Given the description of an element on the screen output the (x, y) to click on. 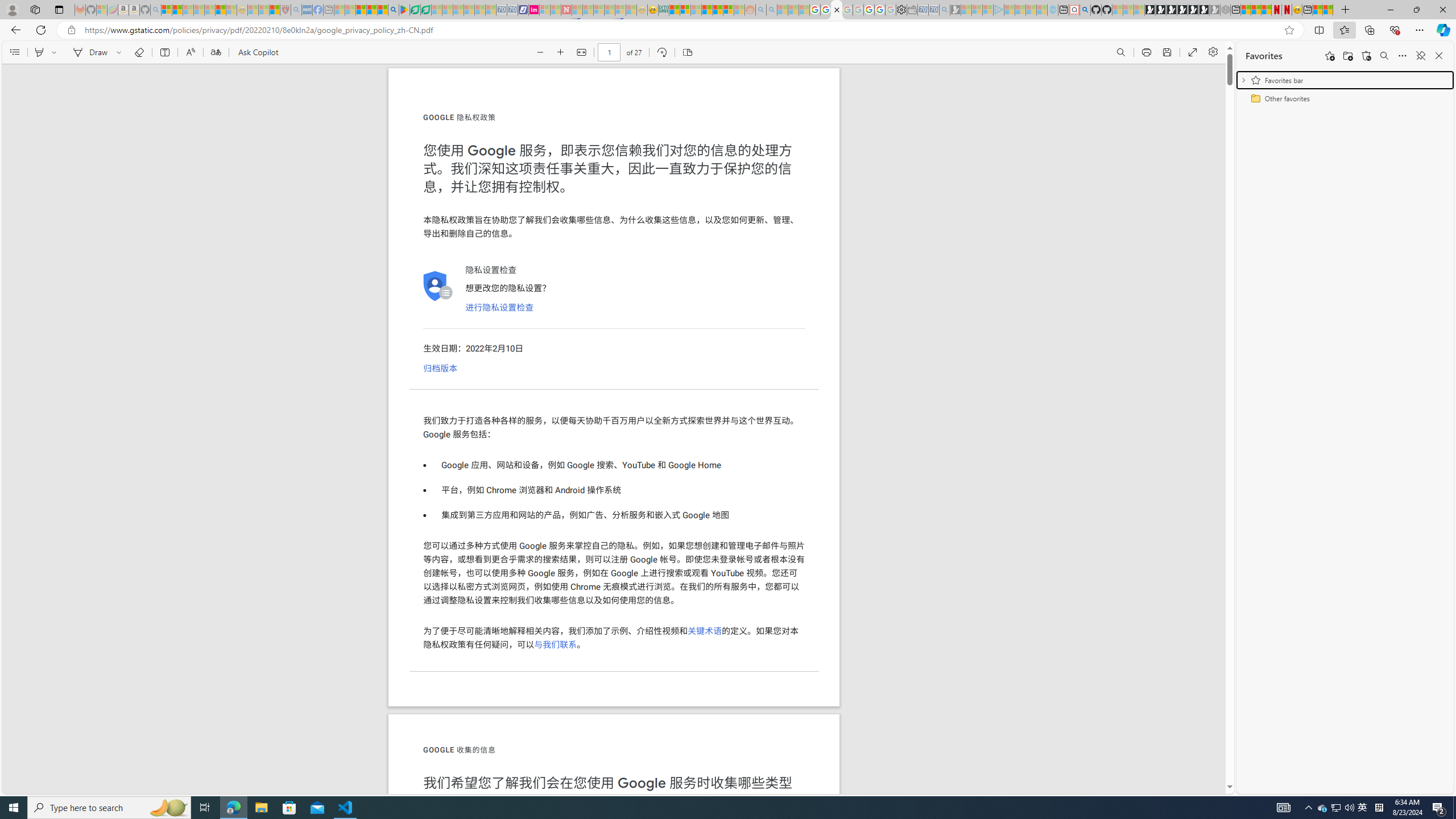
Jobs - lastminute.com Investor Portal (534, 9)
Rotate (Ctrl+]) (661, 52)
Add this page to favorites (1330, 55)
Draw (88, 52)
Translate (215, 52)
